Given the description of an element on the screen output the (x, y) to click on. 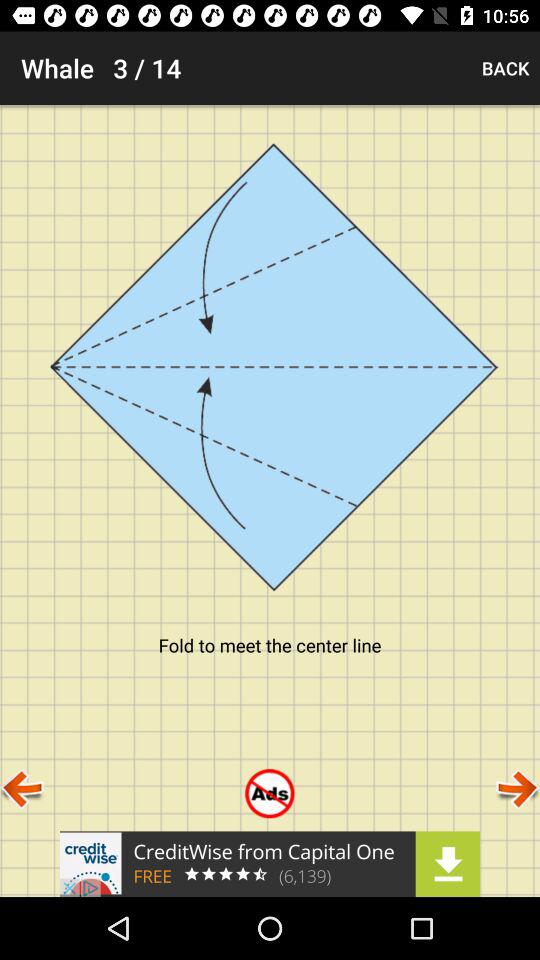
advertisement (270, 864)
